Given the description of an element on the screen output the (x, y) to click on. 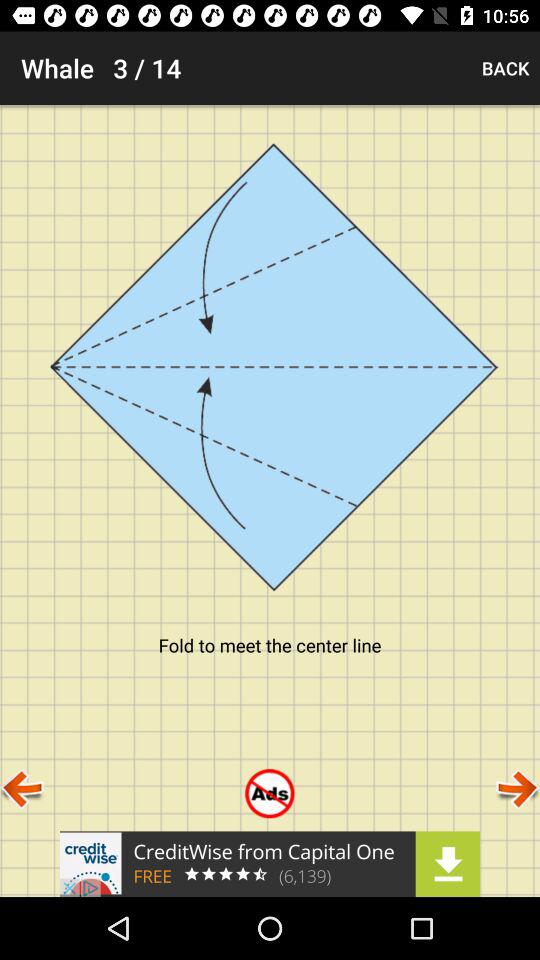
advertisement (270, 864)
